Given the description of an element on the screen output the (x, y) to click on. 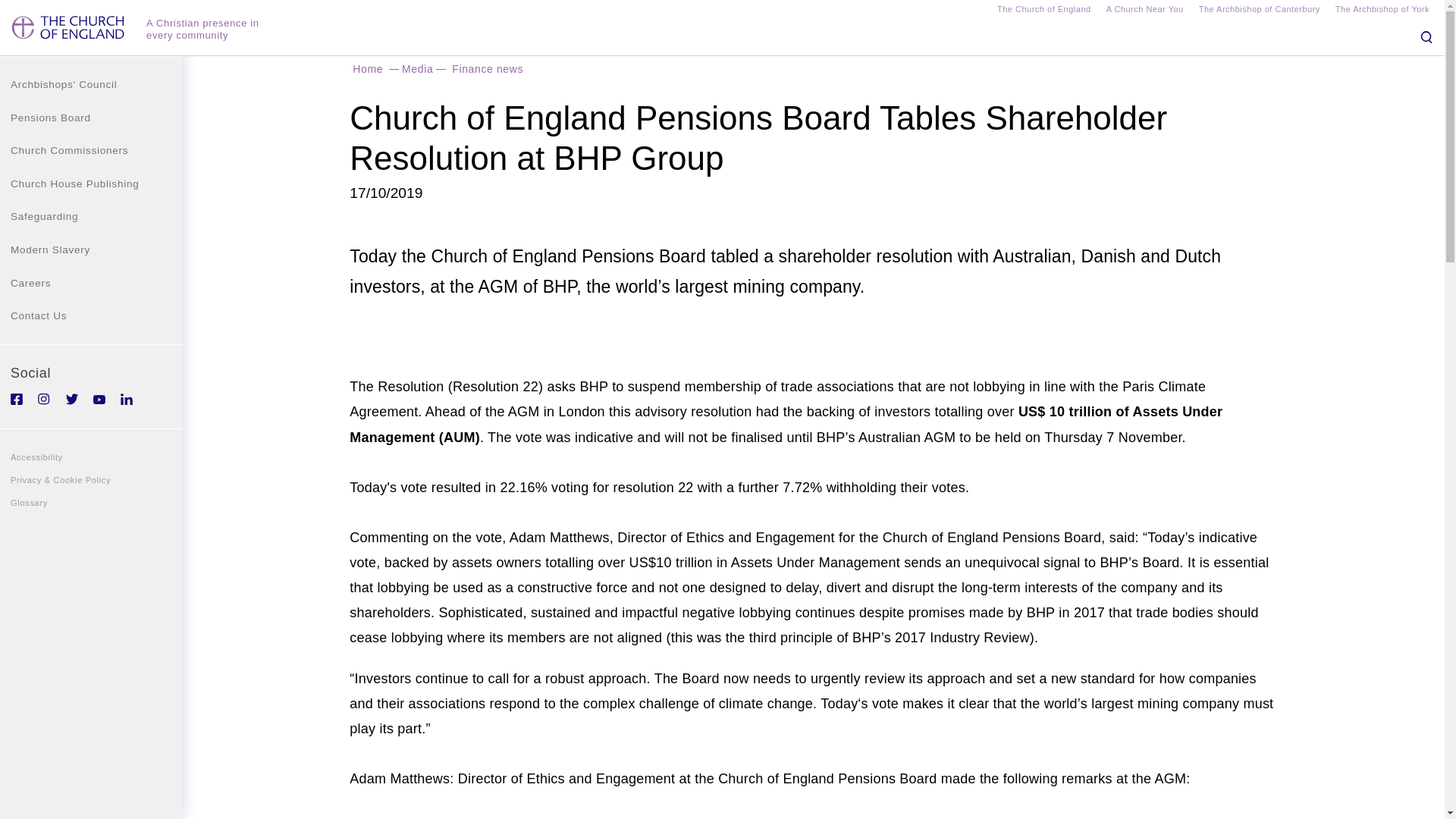
Church House Publishing (91, 183)
The Archbishop of Canterbury (1259, 10)
Contact Us (91, 315)
Modern Slavery (91, 249)
Church Commissioners (91, 150)
Pensions Board (91, 118)
Home (69, 33)
Home (367, 68)
Glossary (91, 502)
Safeguarding (91, 216)
Careers (91, 283)
Finance news (486, 68)
Safeguarding  (91, 216)
Archbishops' Council (91, 84)
